Given the description of an element on the screen output the (x, y) to click on. 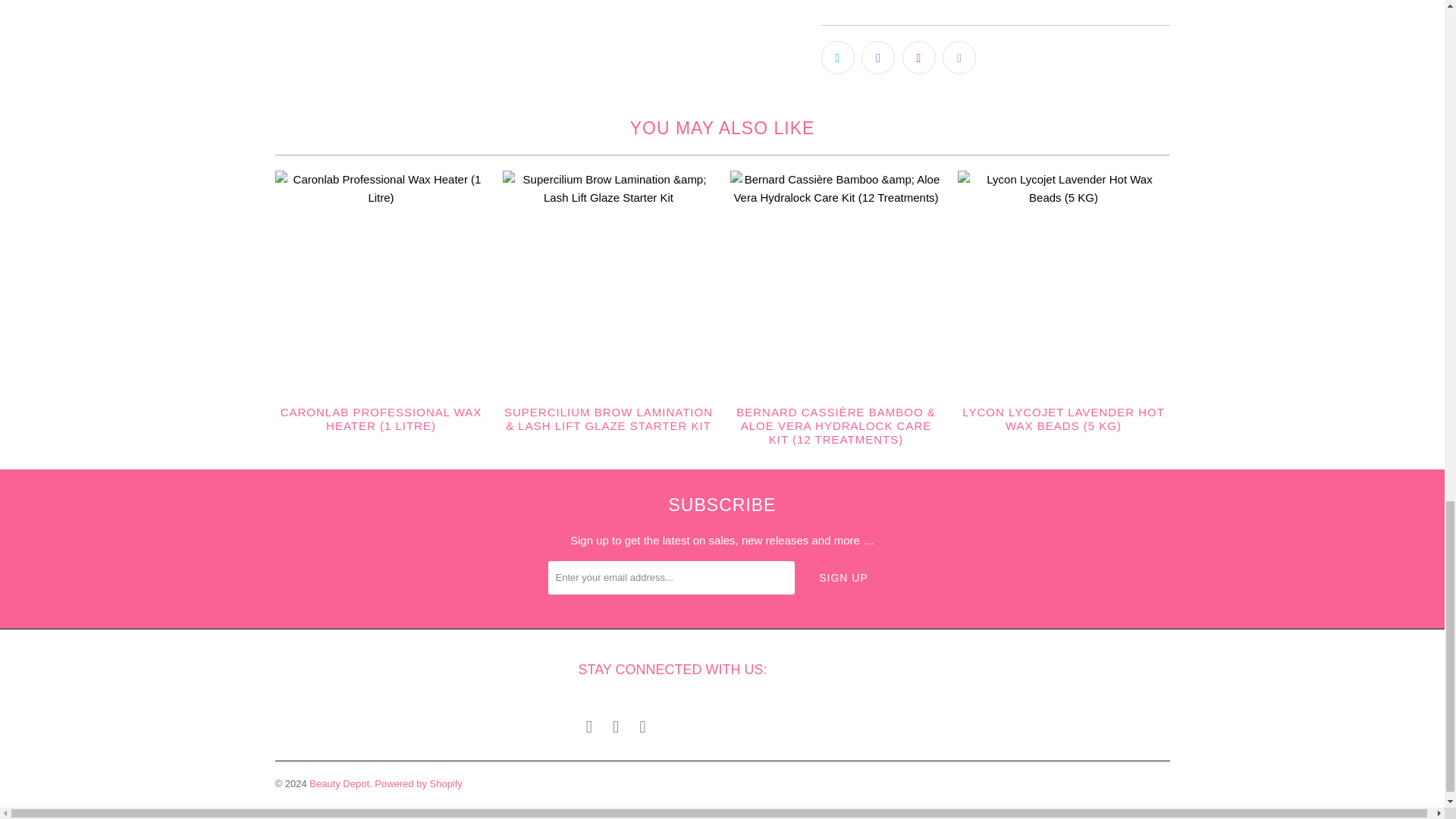
Beauty Depot on Facebook (588, 727)
Share this on Pinterest (919, 57)
Share this on Twitter (837, 57)
Email this to a friend (958, 57)
Email Beauty Depot (642, 727)
Share this on Facebook (878, 57)
Beauty Depot on Instagram (616, 727)
Sign Up (842, 577)
